Given the description of an element on the screen output the (x, y) to click on. 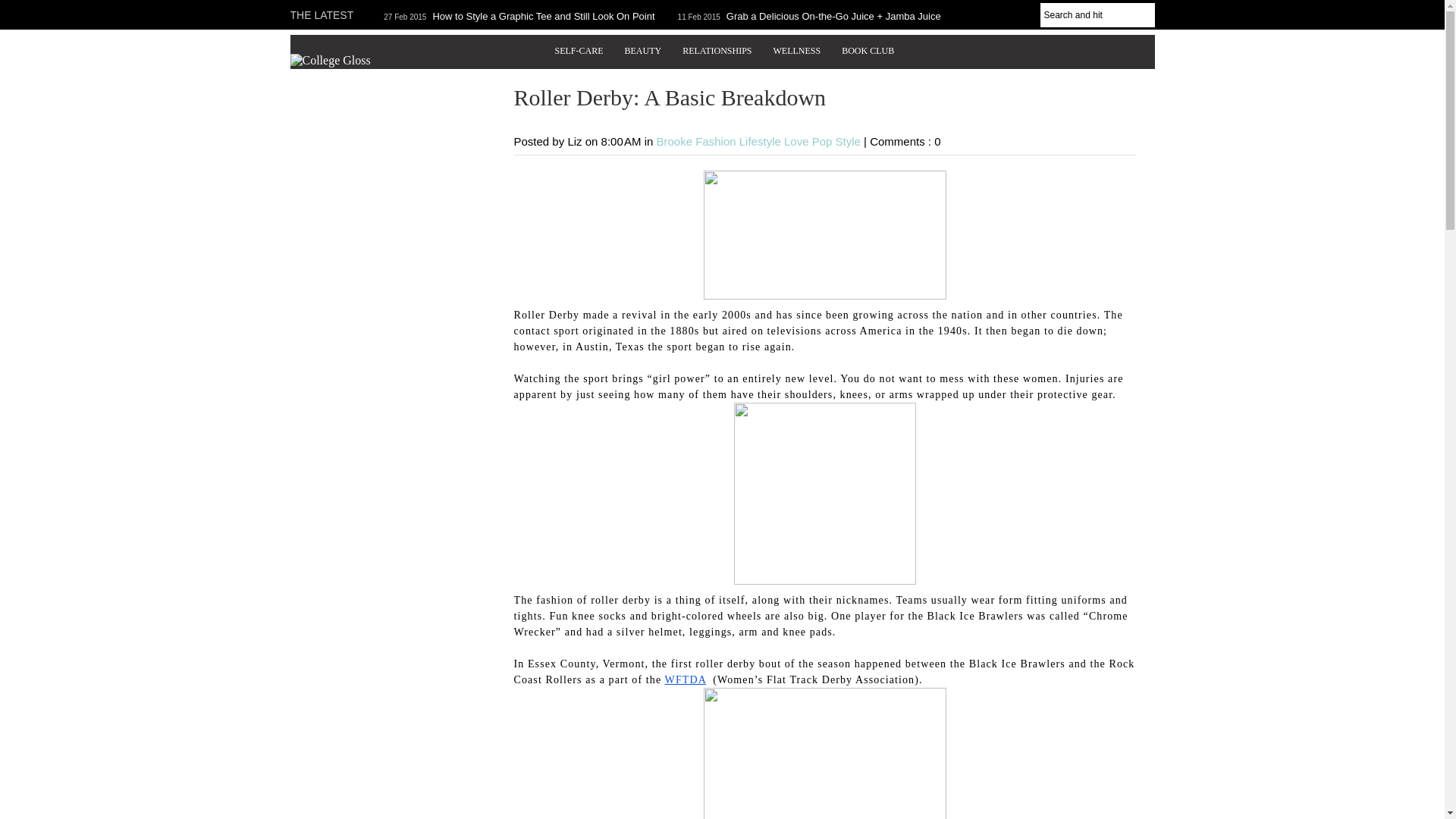
Brooke (675, 141)
Style (849, 141)
Search and hit (1097, 15)
SELF-CARE (579, 51)
WFTDA (685, 679)
BEAUTY (643, 51)
Lifestyle (761, 141)
How to Style a Graphic Tee and Still Look On Point (542, 16)
RELATIONSHIPS (716, 51)
WELLNESS (796, 51)
Pop (823, 141)
BOOK CLUB (867, 51)
Love (798, 141)
Fashion (717, 141)
